Given the description of an element on the screen output the (x, y) to click on. 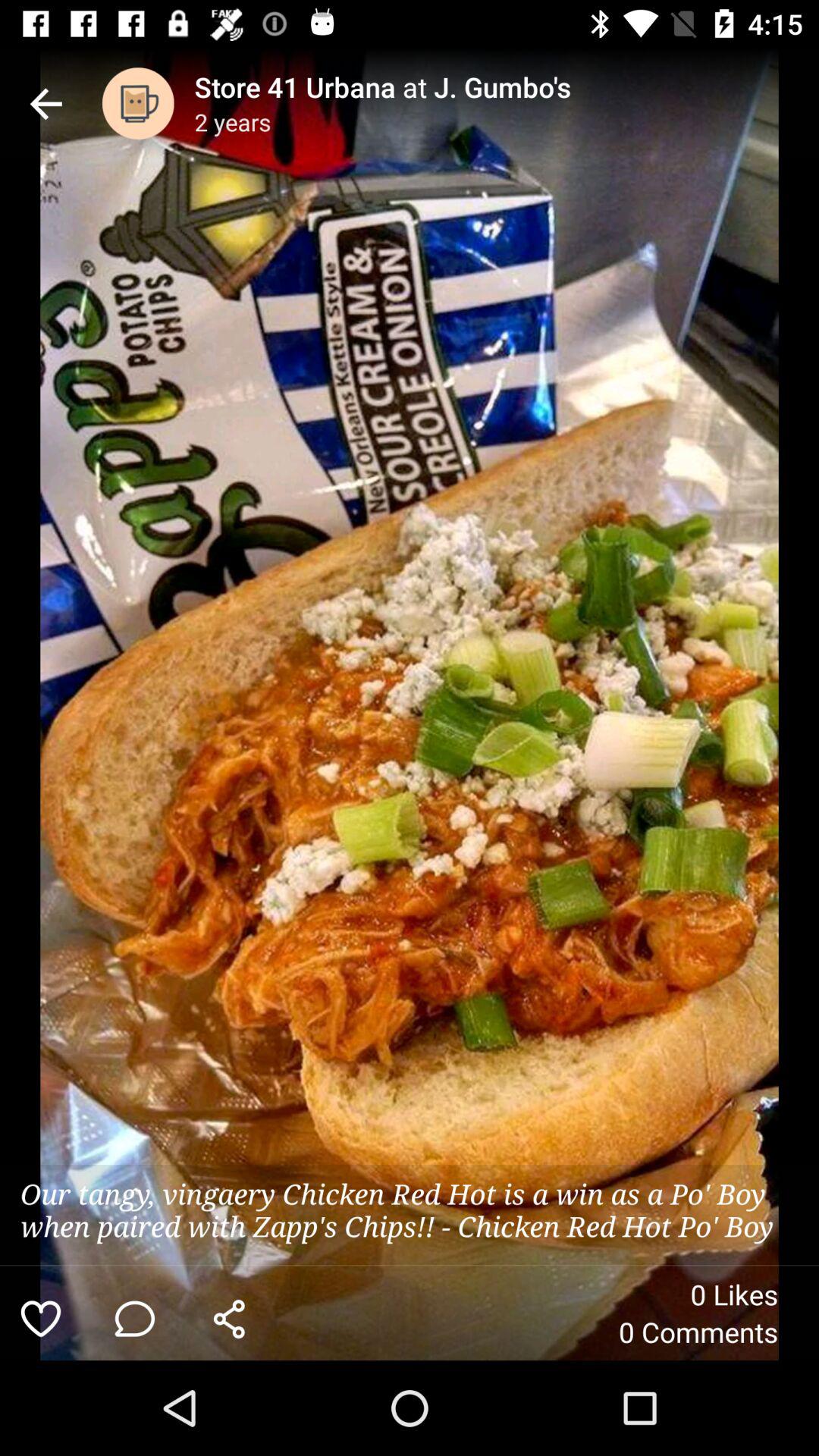
select the item to the left of the store 41 urbana item (138, 103)
